Given the description of an element on the screen output the (x, y) to click on. 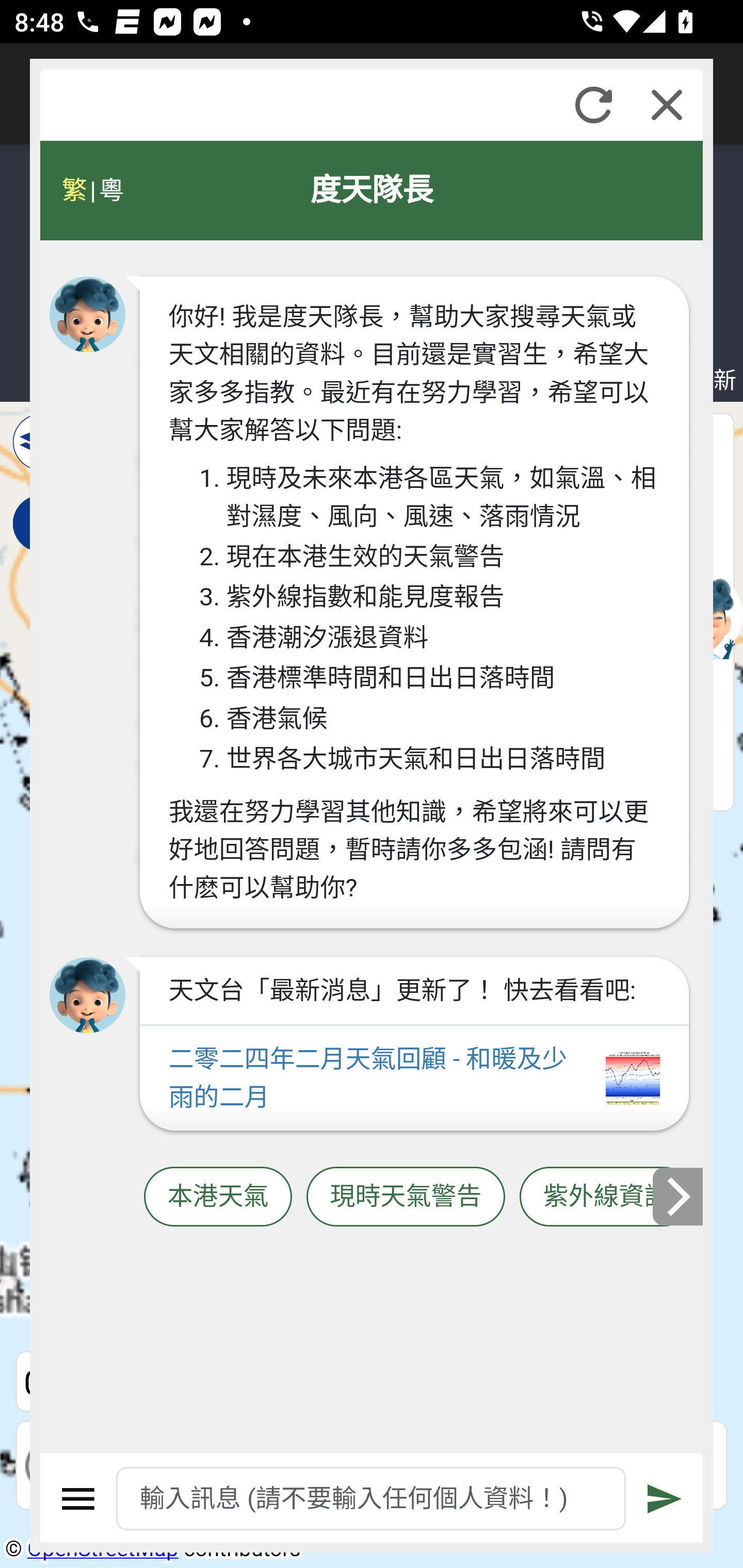
重新整理 (593, 104)
關閉 (666, 104)
繁 (73, 190)
粵 (110, 190)
二零二四年二月天氣回顧 - 和暖及少雨的二月 (413, 1078)
本港天氣 (217, 1196)
現時天氣警告 (405, 1196)
紫外線資訊 (605, 1196)
下一張 (678, 1196)
選單 (78, 1498)
遞交 (665, 1498)
